Given the description of an element on the screen output the (x, y) to click on. 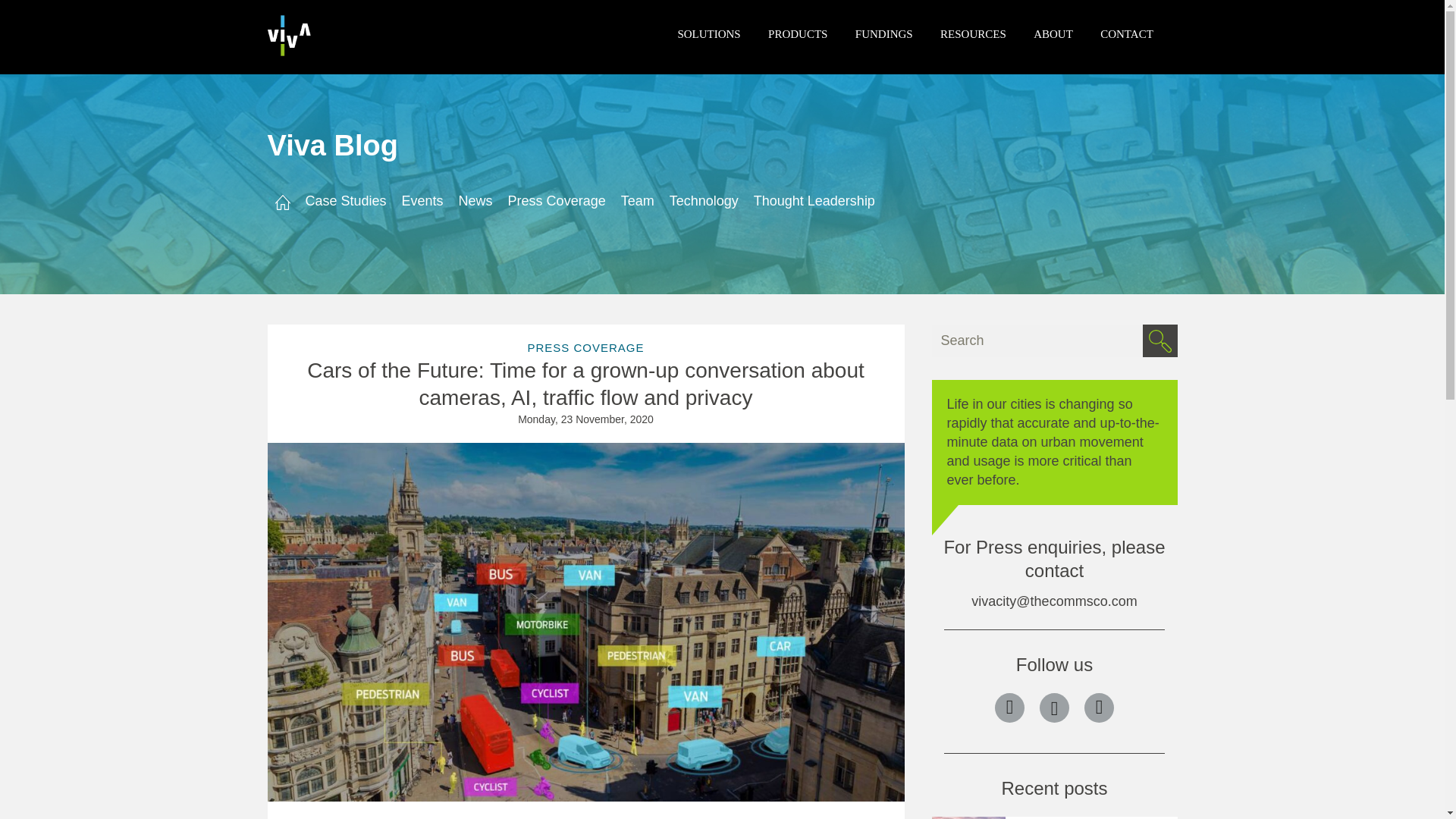
ABOUT (1053, 33)
SOLUTIONS (708, 33)
RESOURCES (973, 33)
FUNDINGS (884, 33)
CONTACT (1126, 33)
PRODUCTS (797, 33)
